Given the description of an element on the screen output the (x, y) to click on. 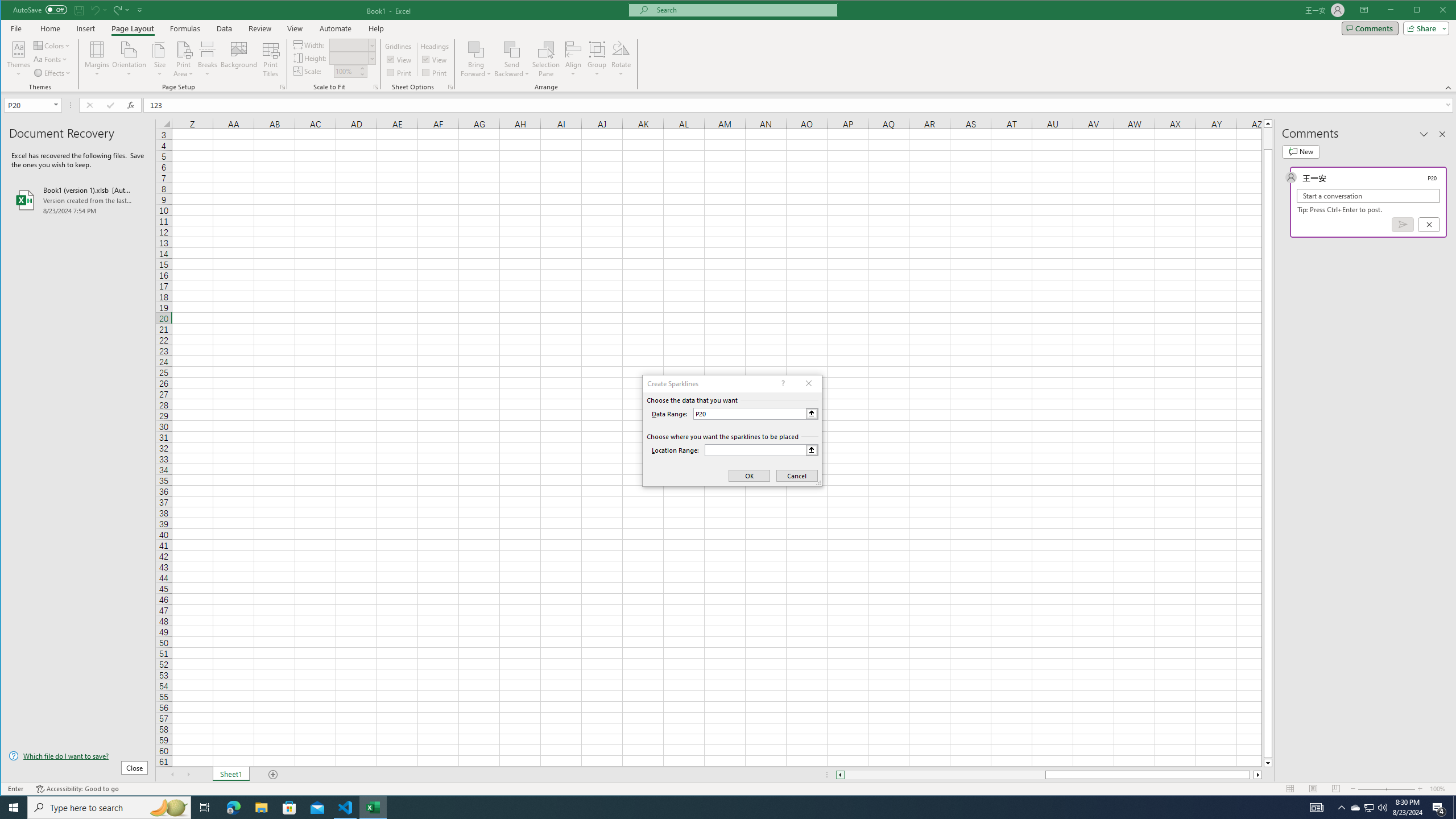
Bring Forward (476, 48)
Print (434, 72)
Comments (1369, 28)
Width (352, 44)
Scroll Left (172, 774)
Print Titles (270, 59)
Undo (94, 9)
Line down (1267, 763)
Help (376, 28)
Scroll Right (188, 774)
Effects (53, 72)
Page Break Preview (1335, 788)
Print Area (183, 59)
Page Layout (132, 28)
Bring Forward (476, 59)
